Given the description of an element on the screen output the (x, y) to click on. 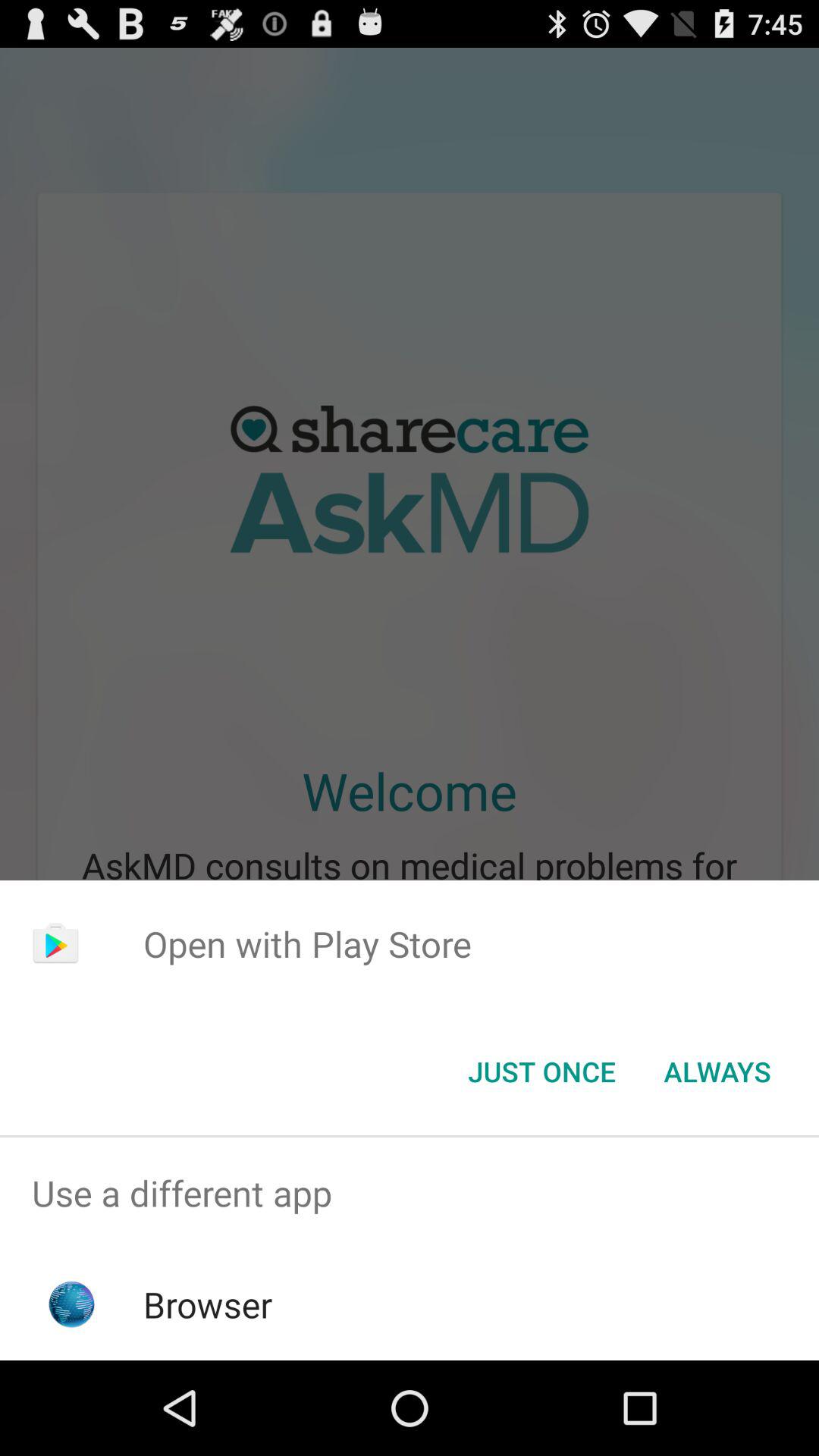
launch icon next to always icon (541, 1071)
